Given the description of an element on the screen output the (x, y) to click on. 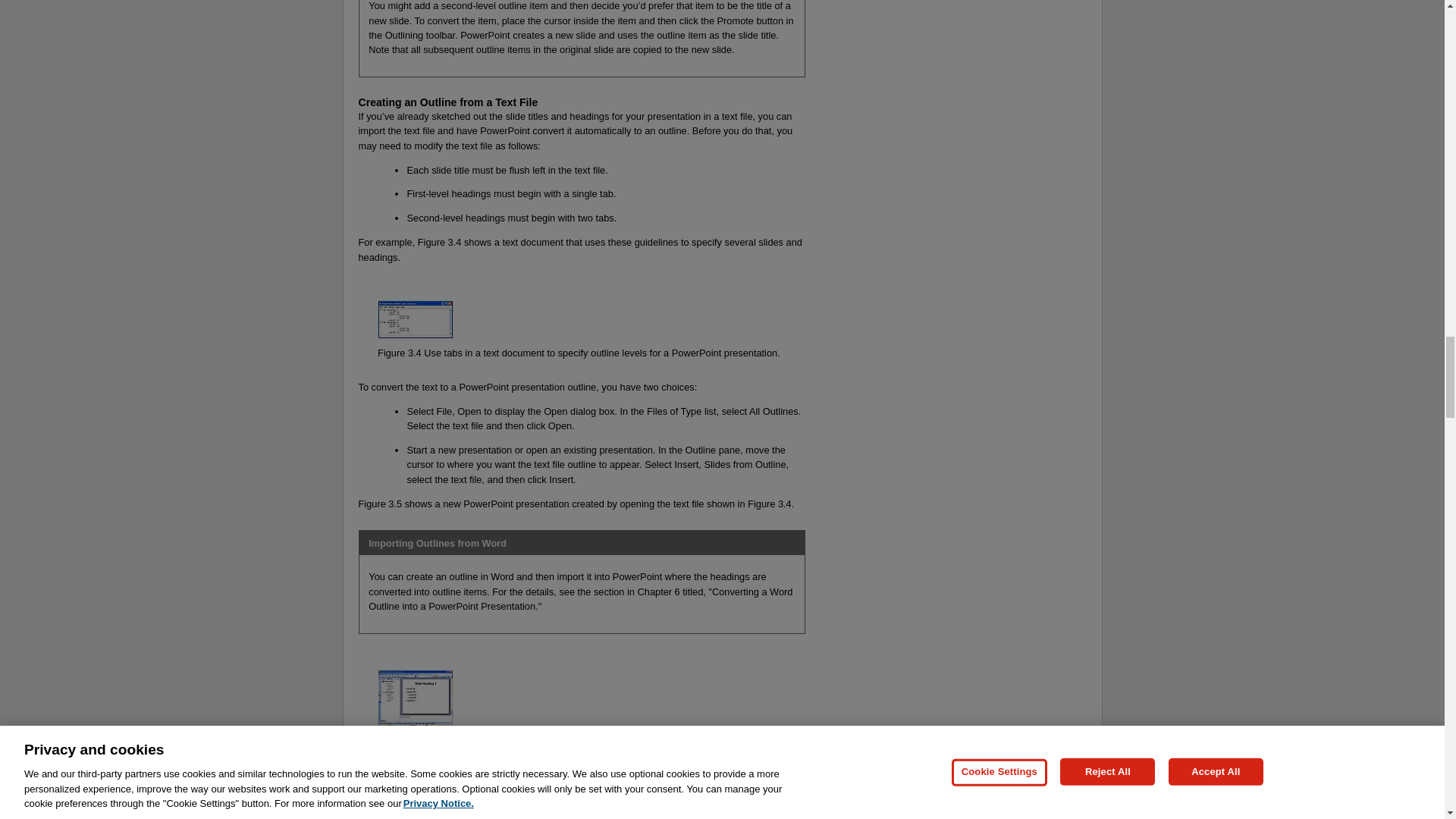
Figure 3.4 (399, 352)
Figure 3.4 (770, 502)
Figure 3.5 (379, 502)
Figure 3.5 (399, 740)
Figure 3.4 (410, 755)
Figure 3.4 (439, 242)
